Given the description of an element on the screen output the (x, y) to click on. 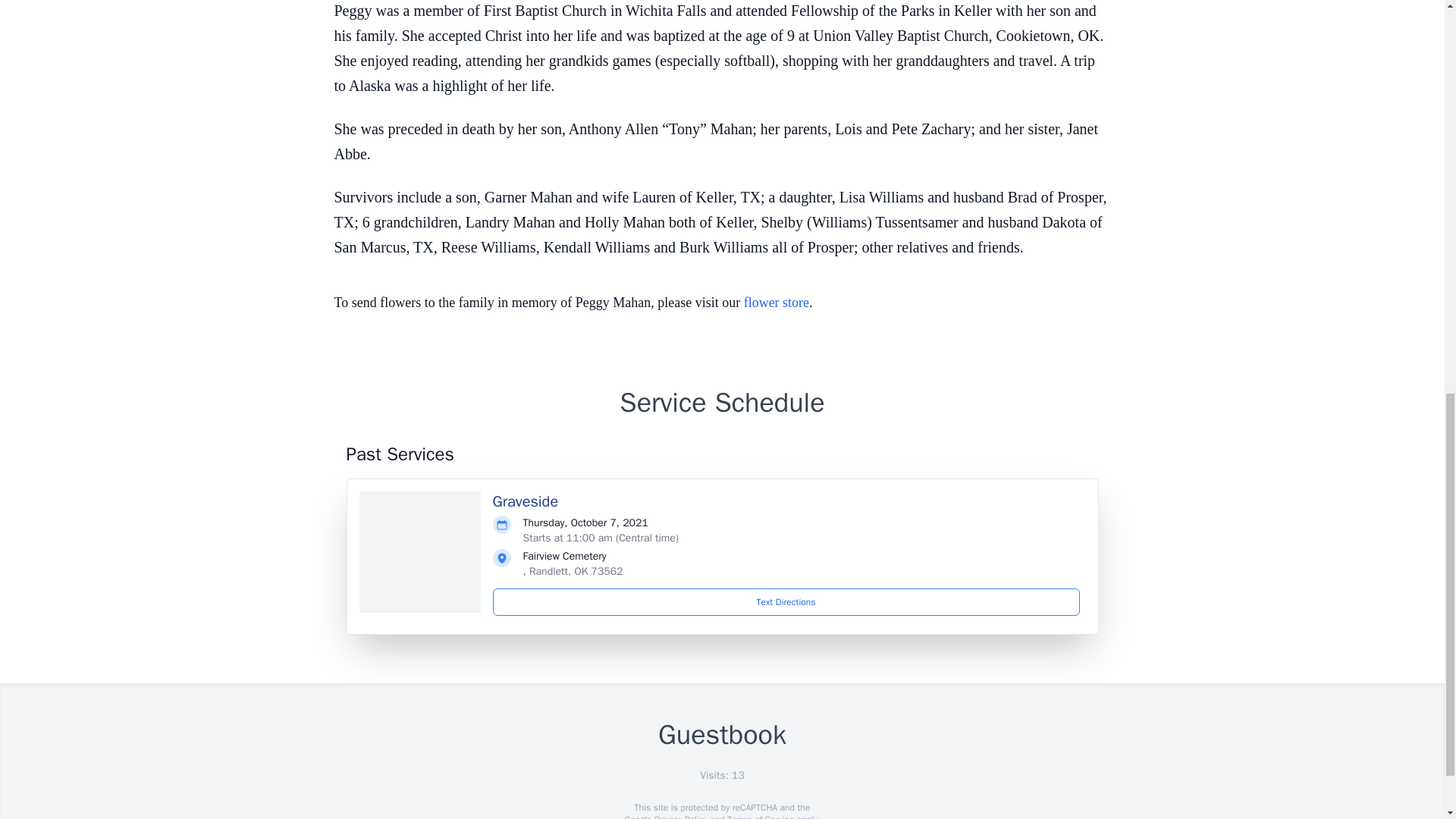
Privacy Policy (679, 816)
flower store (776, 302)
Text Directions (786, 601)
, Randlett, OK 73562 (572, 571)
Terms of Service (759, 816)
